Given the description of an element on the screen output the (x, y) to click on. 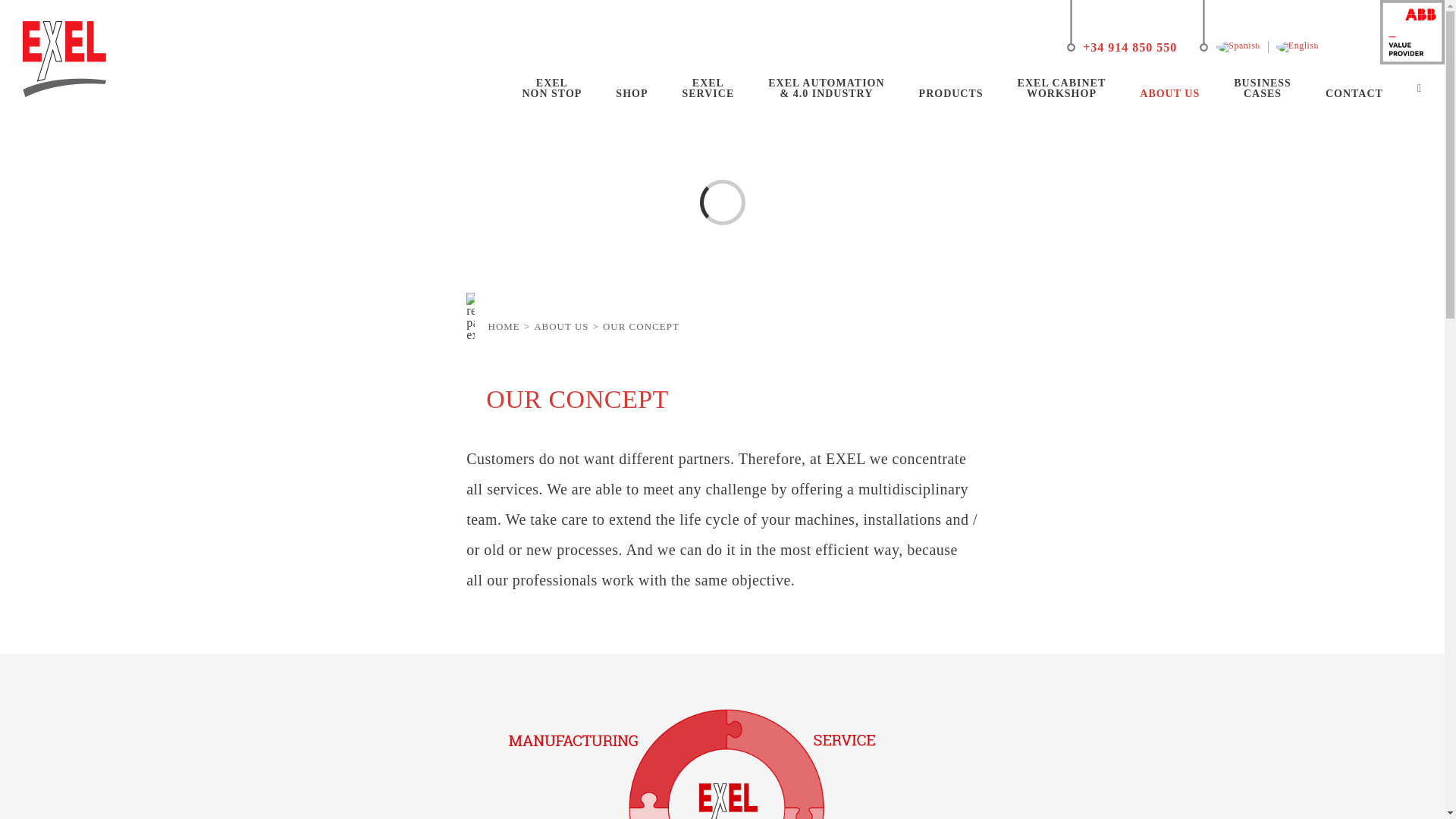
PRODUCTS (707, 88)
CONTACT (1061, 88)
ABOUT US (951, 88)
